Given the description of an element on the screen output the (x, y) to click on. 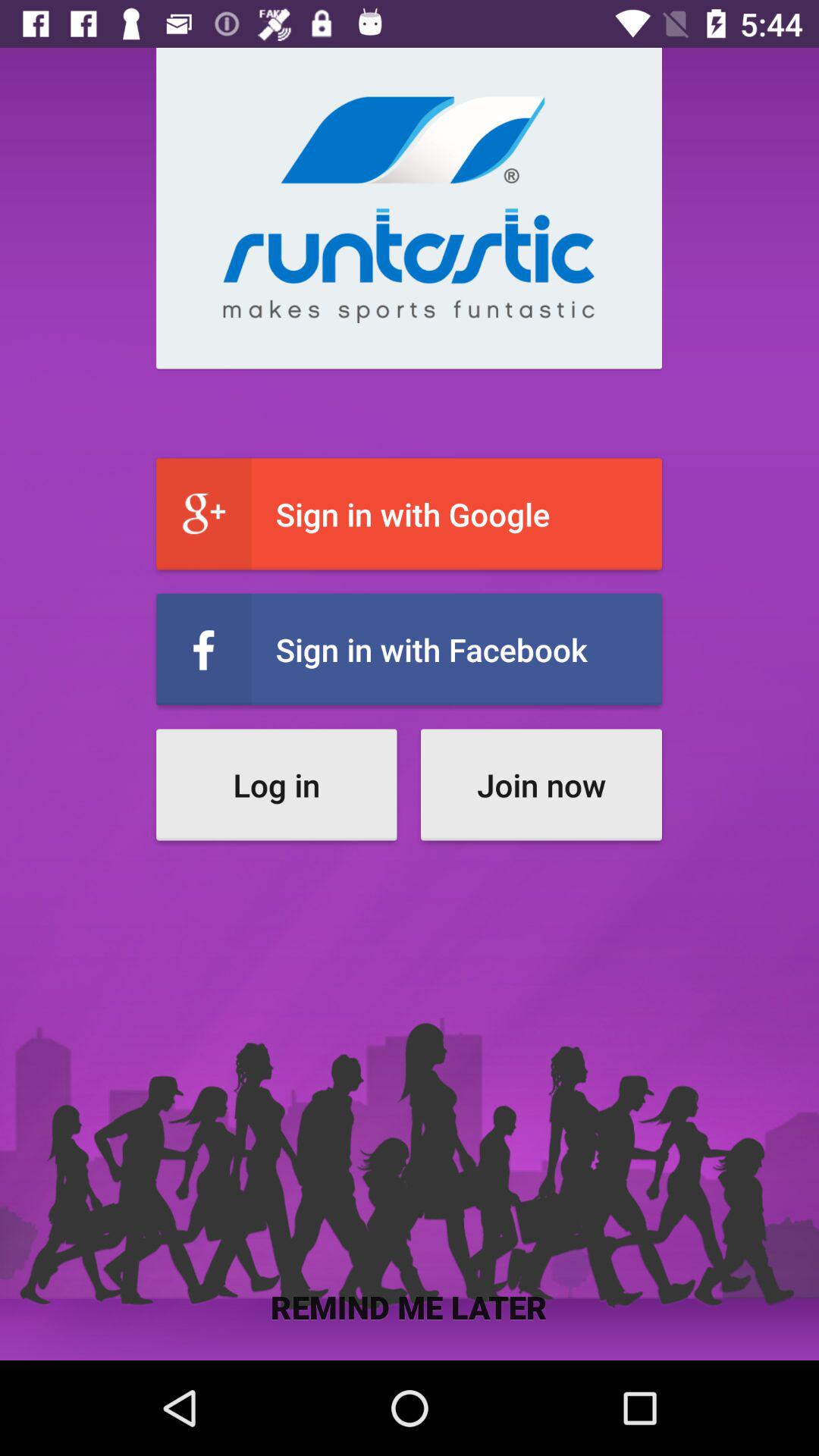
scroll until log in item (276, 784)
